Given the description of an element on the screen output the (x, y) to click on. 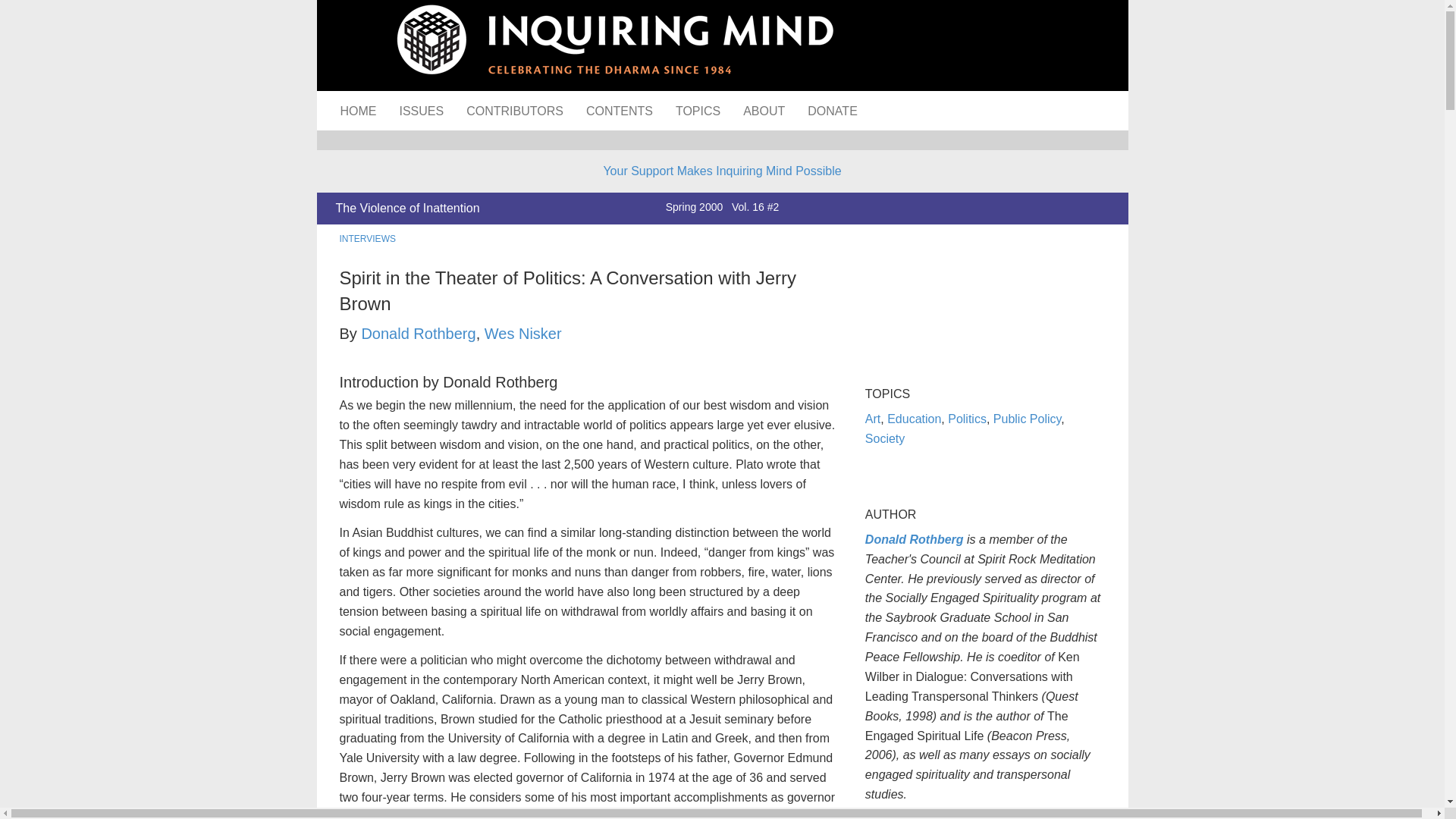
Donald Rothberg (418, 333)
ABOUT (764, 110)
HOME (358, 110)
Your Support Makes Inquiring Mind Possible (721, 170)
ISSUES (421, 110)
Society (884, 438)
INTERVIEWS (367, 238)
Art (872, 418)
TOPICS (697, 110)
Public Policy (1026, 418)
Politics (967, 418)
CONTRIBUTORS (514, 110)
Wes Nisker (523, 333)
DONATE (831, 110)
Donald Rothberg (913, 539)
